Given the description of an element on the screen output the (x, y) to click on. 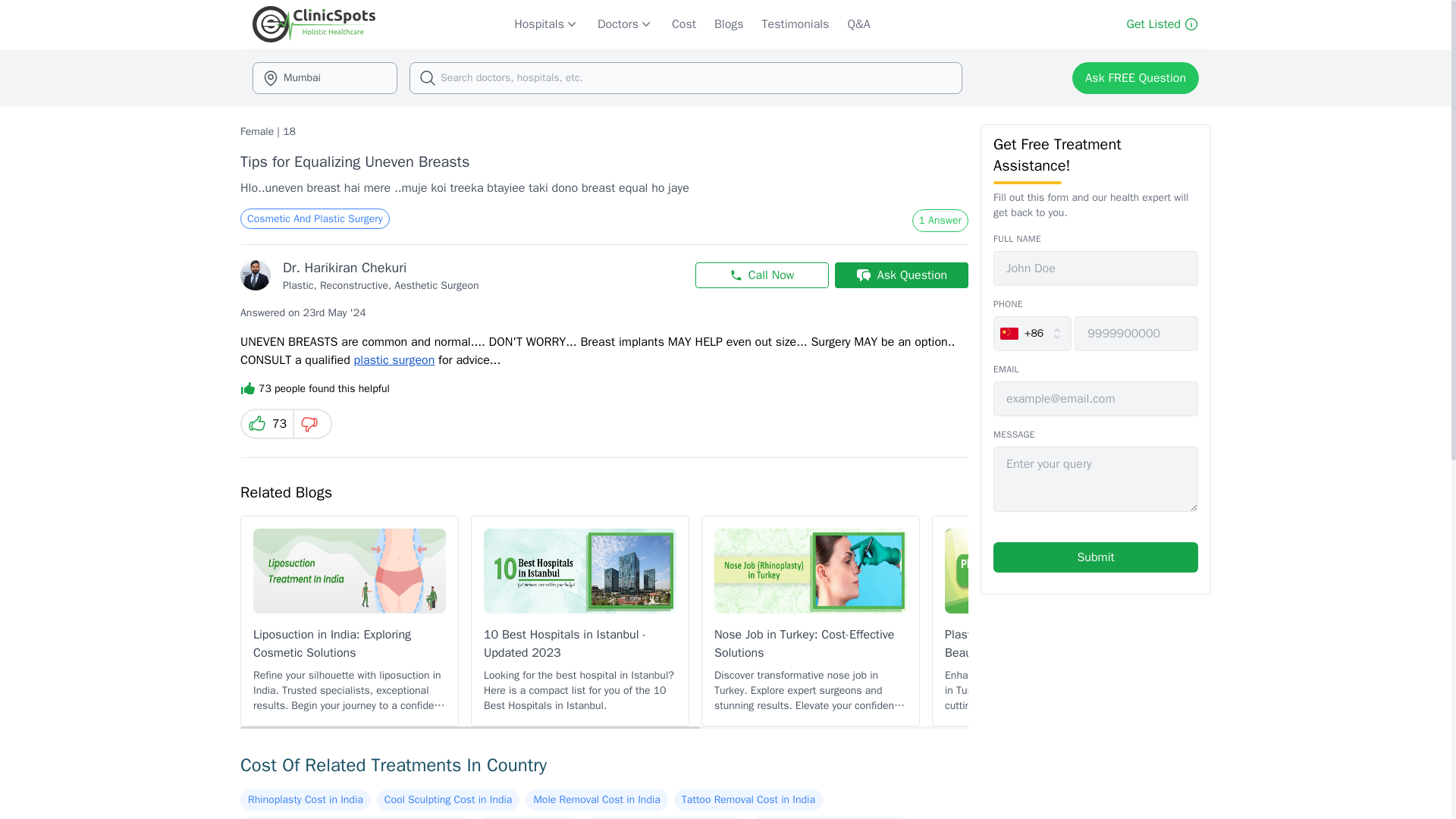
Dr. Harikiran Chekuri (344, 267)
Tips for Equalizing Uneven Breasts (354, 161)
Call Now (761, 275)
plastic surgeon (394, 359)
Mumbai (324, 78)
Ask Question (901, 275)
Mumbai (324, 78)
73 (266, 423)
Get Listed (1161, 24)
Cosmetic And Plastic Surgery (315, 218)
Ask FREE Question (1134, 78)
Dr. Harikiran Chekuri (255, 275)
Testimonials (795, 24)
